Given the description of an element on the screen output the (x, y) to click on. 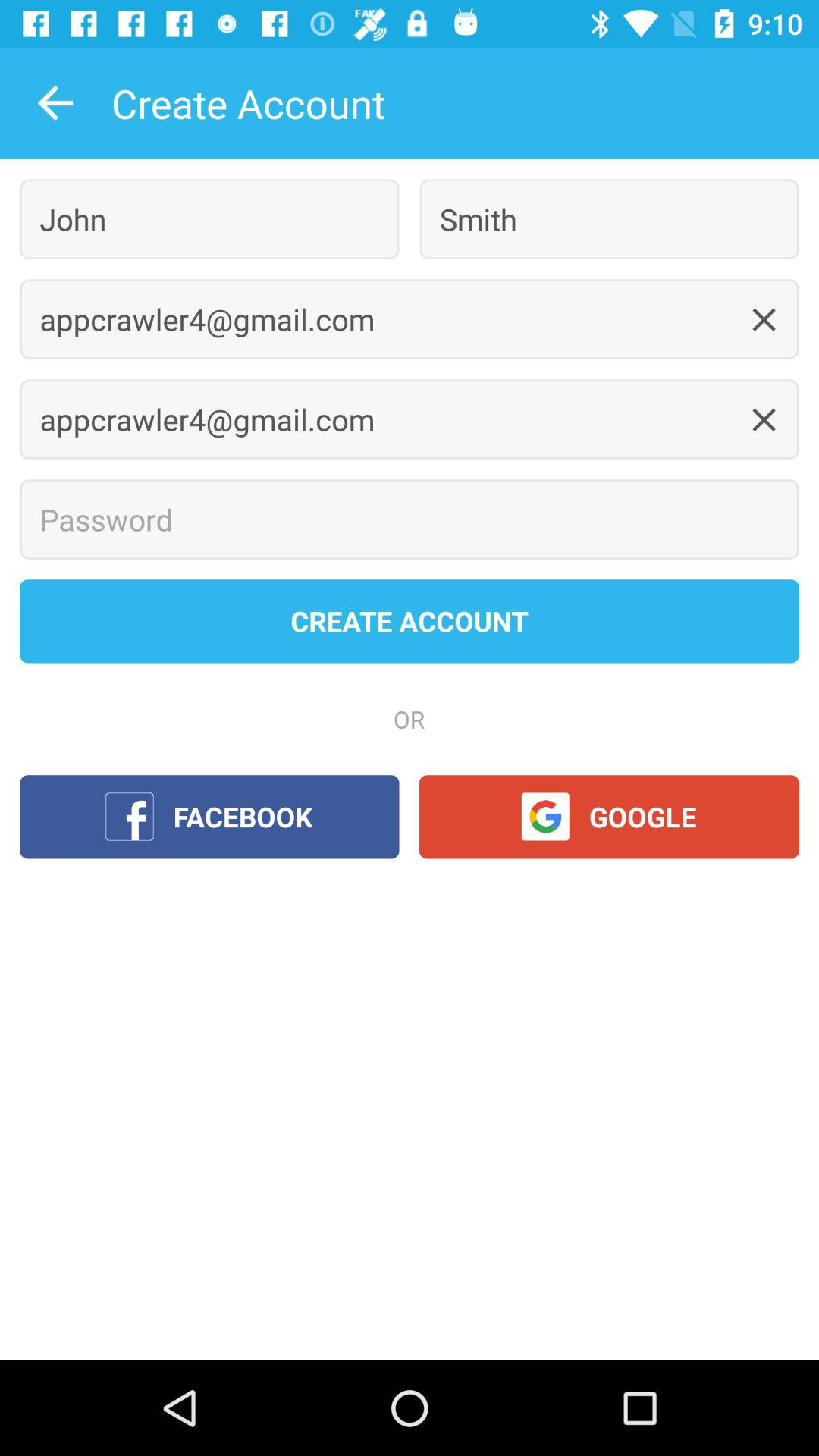
flip to john (209, 219)
